Given the description of an element on the screen output the (x, y) to click on. 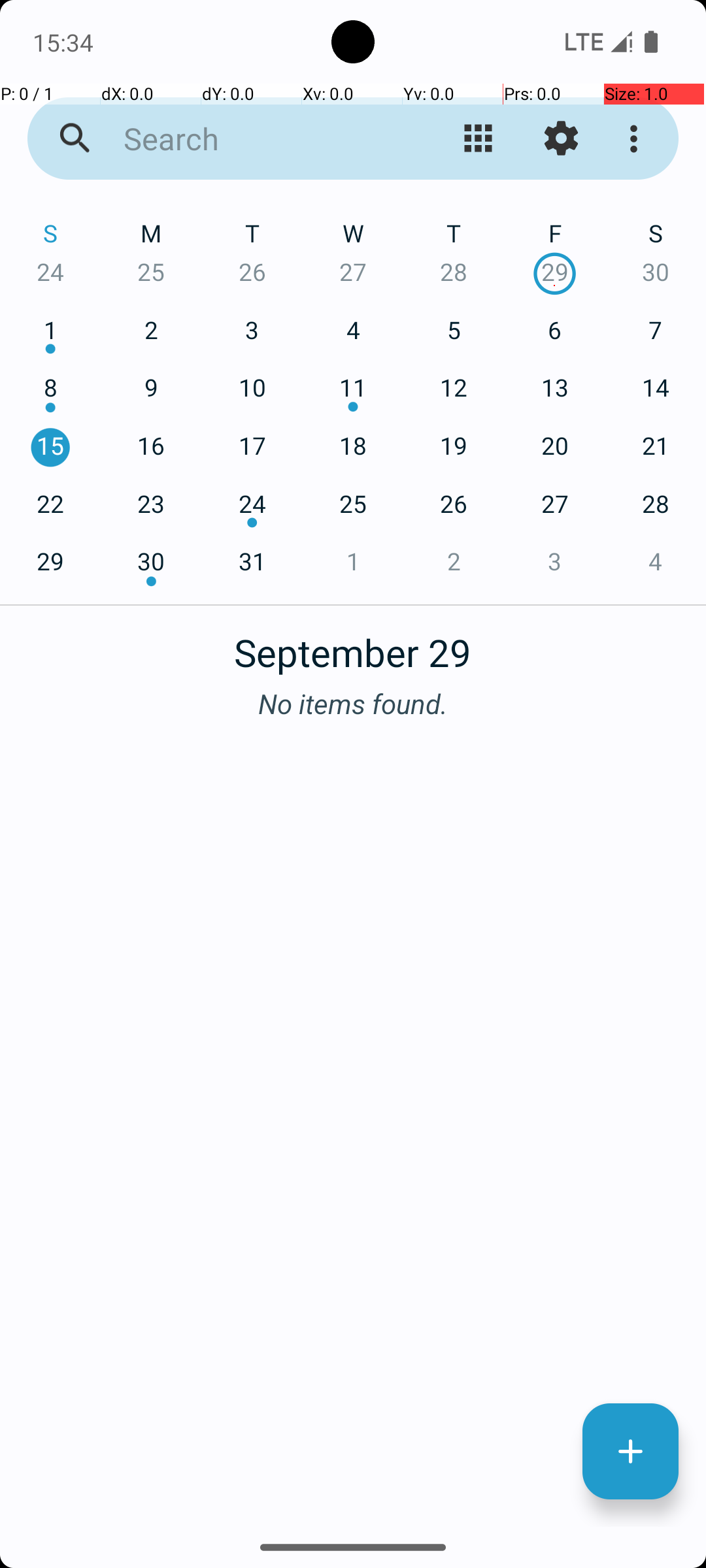
September 29 Element type: android.widget.TextView (352, 644)
